Given the description of an element on the screen output the (x, y) to click on. 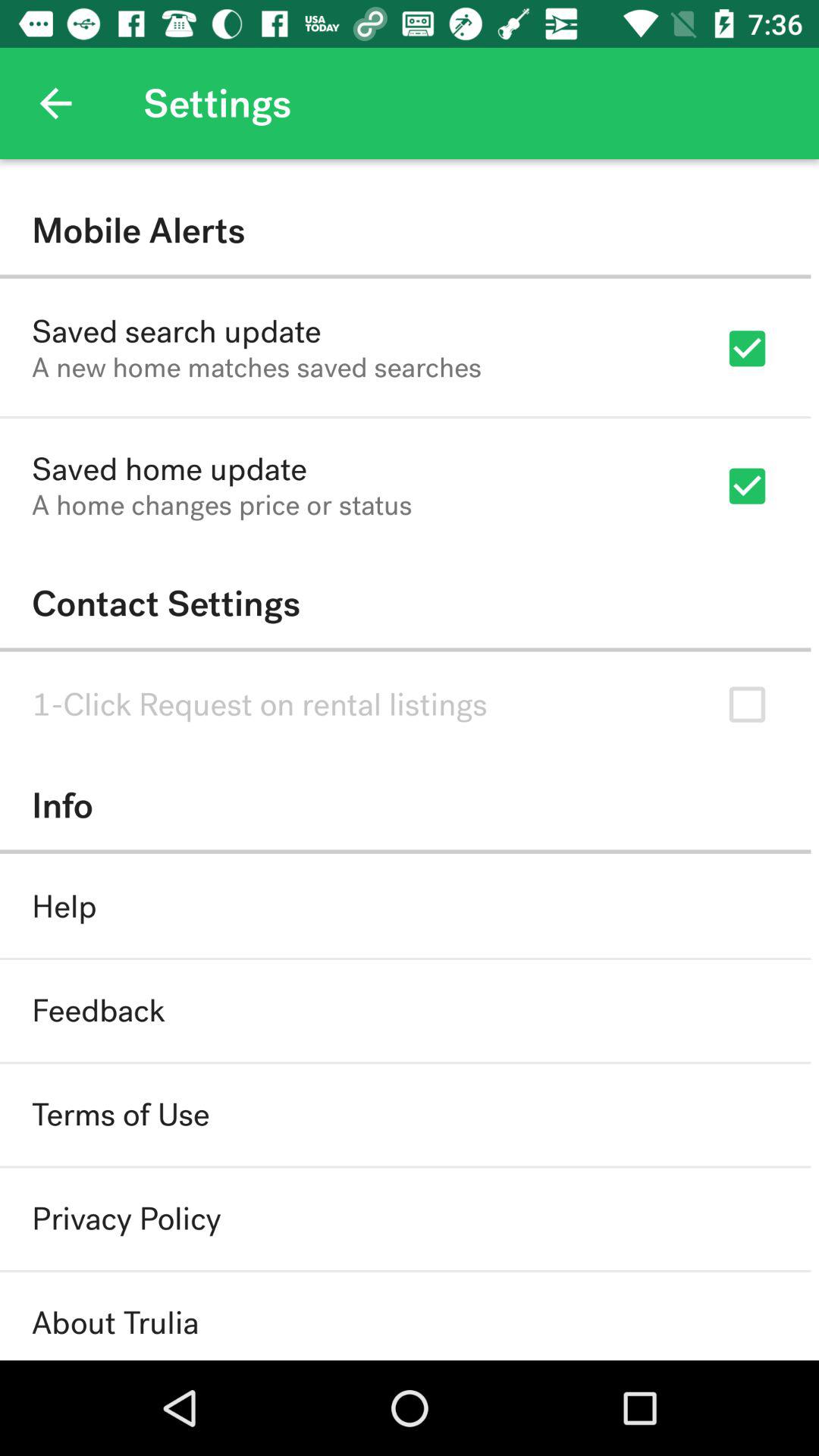
open the icon next to the settings item (55, 103)
